Given the description of an element on the screen output the (x, y) to click on. 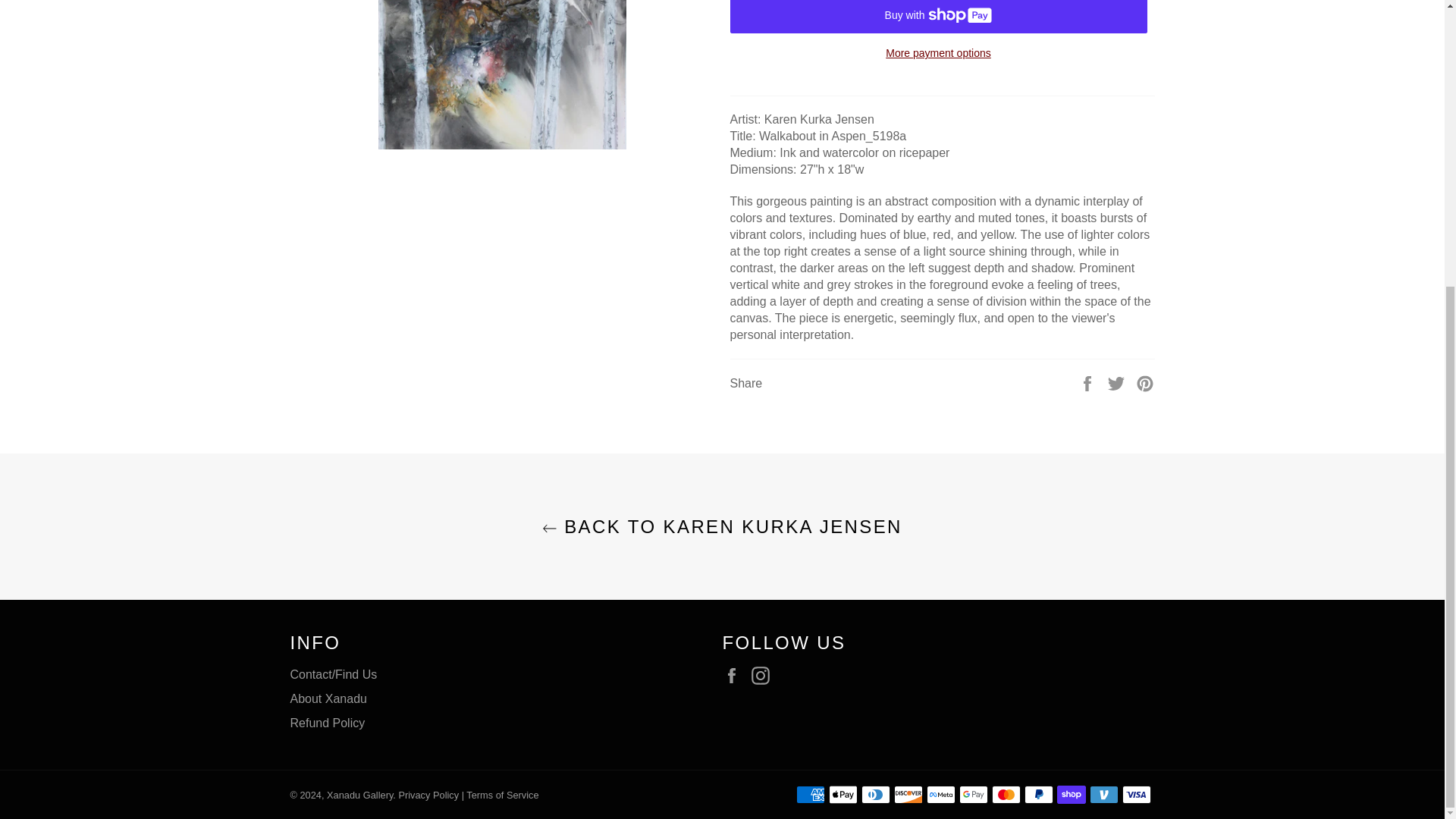
Instagram (764, 675)
Share on Facebook (1088, 382)
Pin on Pinterest (1144, 382)
More payment options (938, 53)
Pin on Pinterest (1144, 382)
Tweet on Twitter (1117, 382)
About Xanadu (327, 698)
Tweet on Twitter (1117, 382)
Privacy Policy (427, 794)
Share on Facebook (1088, 382)
Xanadu Gallery on Instagram (764, 675)
Refund Policy (327, 722)
Xanadu Gallery on Facebook (735, 675)
BACK TO KAREN KURKA JENSEN (721, 526)
Facebook (735, 675)
